Given the description of an element on the screen output the (x, y) to click on. 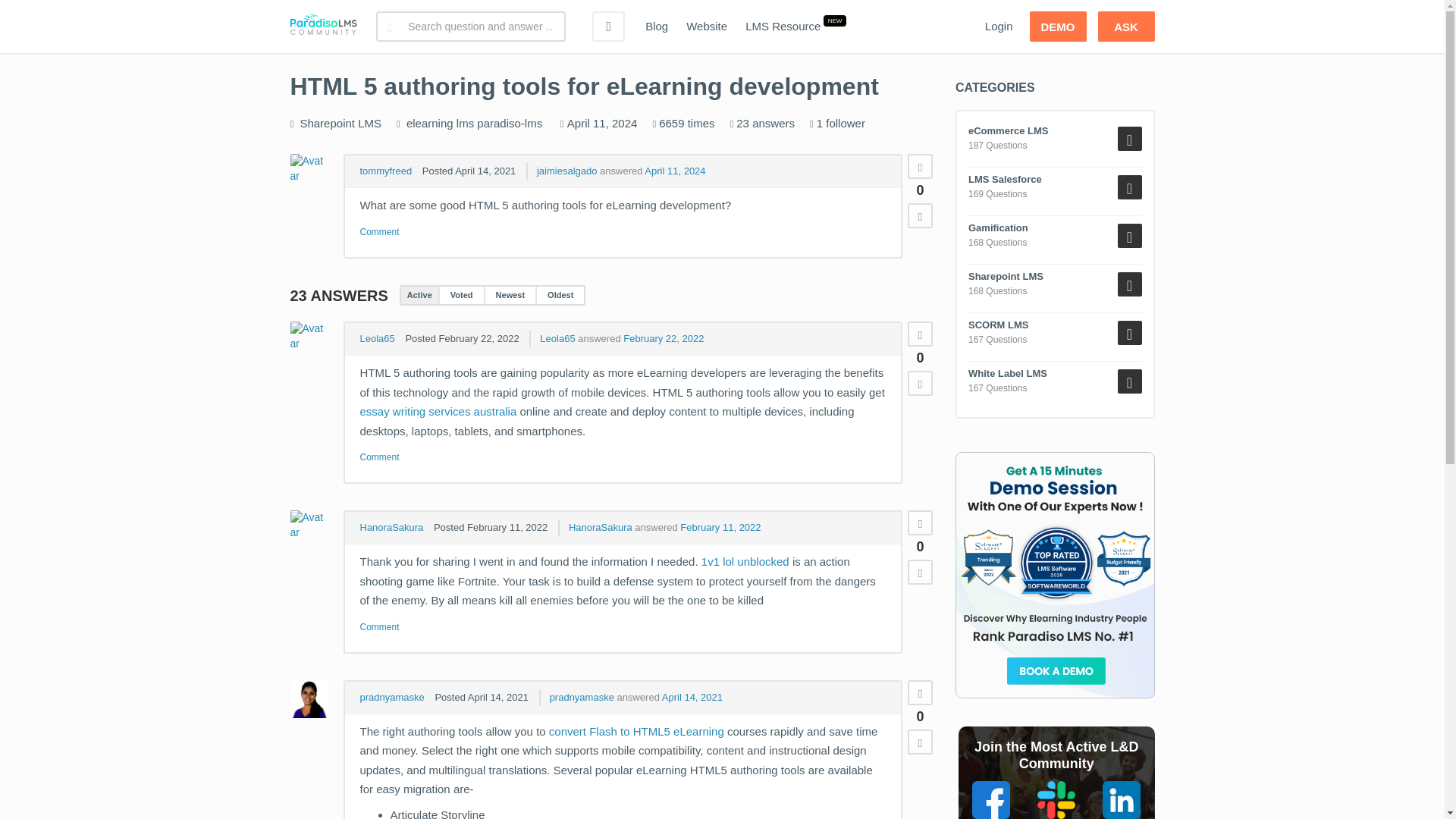
All you need to know about Sharepoint LMS (340, 123)
tommyfreed (385, 170)
jaimiesalgado (566, 170)
elearning (429, 123)
Down vote this post (920, 215)
Blog (656, 26)
Comments (378, 231)
Comment (378, 231)
Down vote this post (920, 383)
Blog (656, 26)
LMS Resource (782, 26)
Paradiso  Community  (323, 26)
DEMO (1057, 26)
paradiso-lms (509, 123)
lms (465, 123)
